Given the description of an element on the screen output the (x, y) to click on. 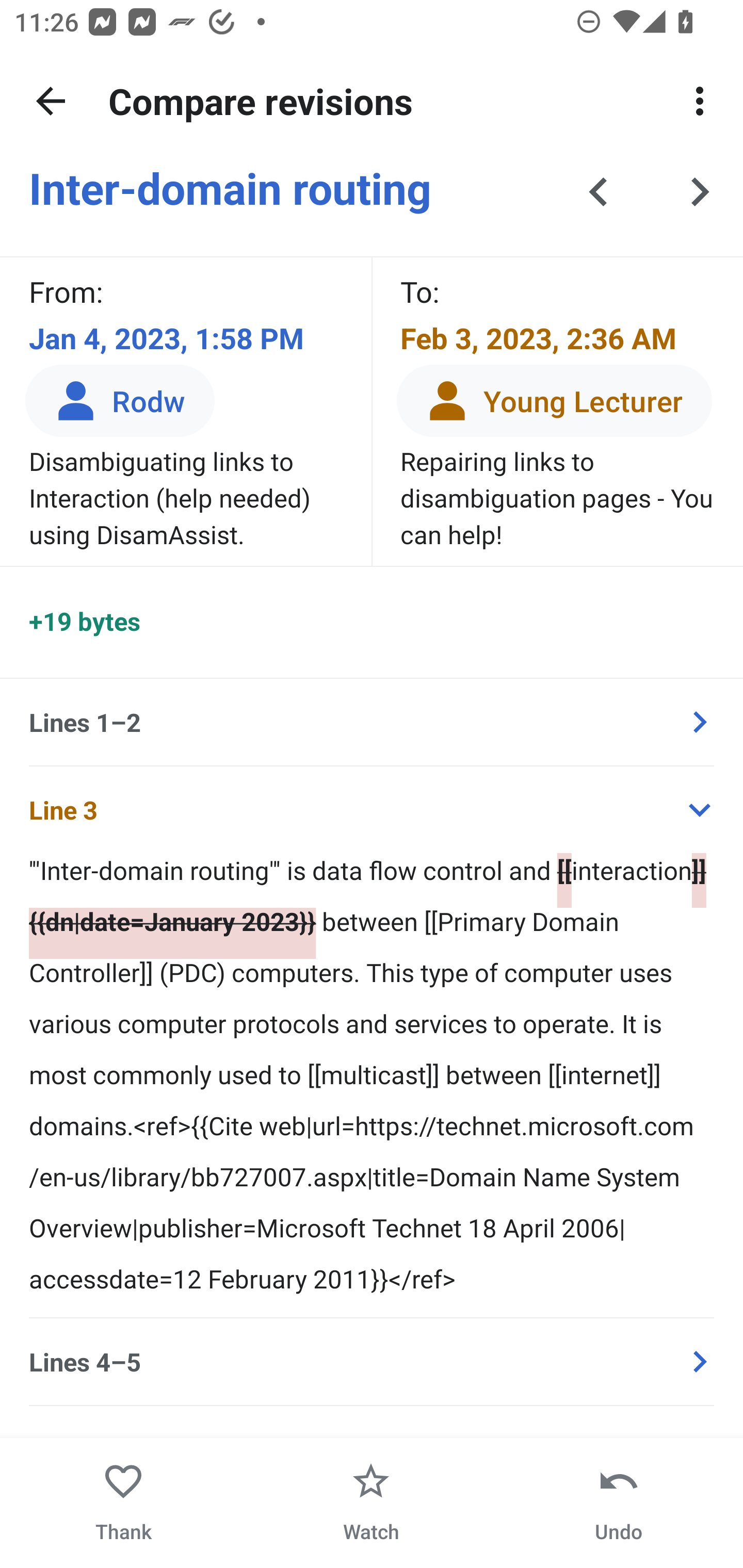
Navigate up (50, 101)
More options (699, 101)
Inter-domain routing (291, 187)
Previous edit (598, 196)
Next edit (699, 196)
Rodw (119, 400)
Young Lecturer (553, 400)
Lines 1–2 (371, 721)
Line 3 (371, 809)
Lines 4–5 (371, 1361)
Thank (123, 1502)
Watch (370, 1502)
Undo (618, 1502)
